Given the description of an element on the screen output the (x, y) to click on. 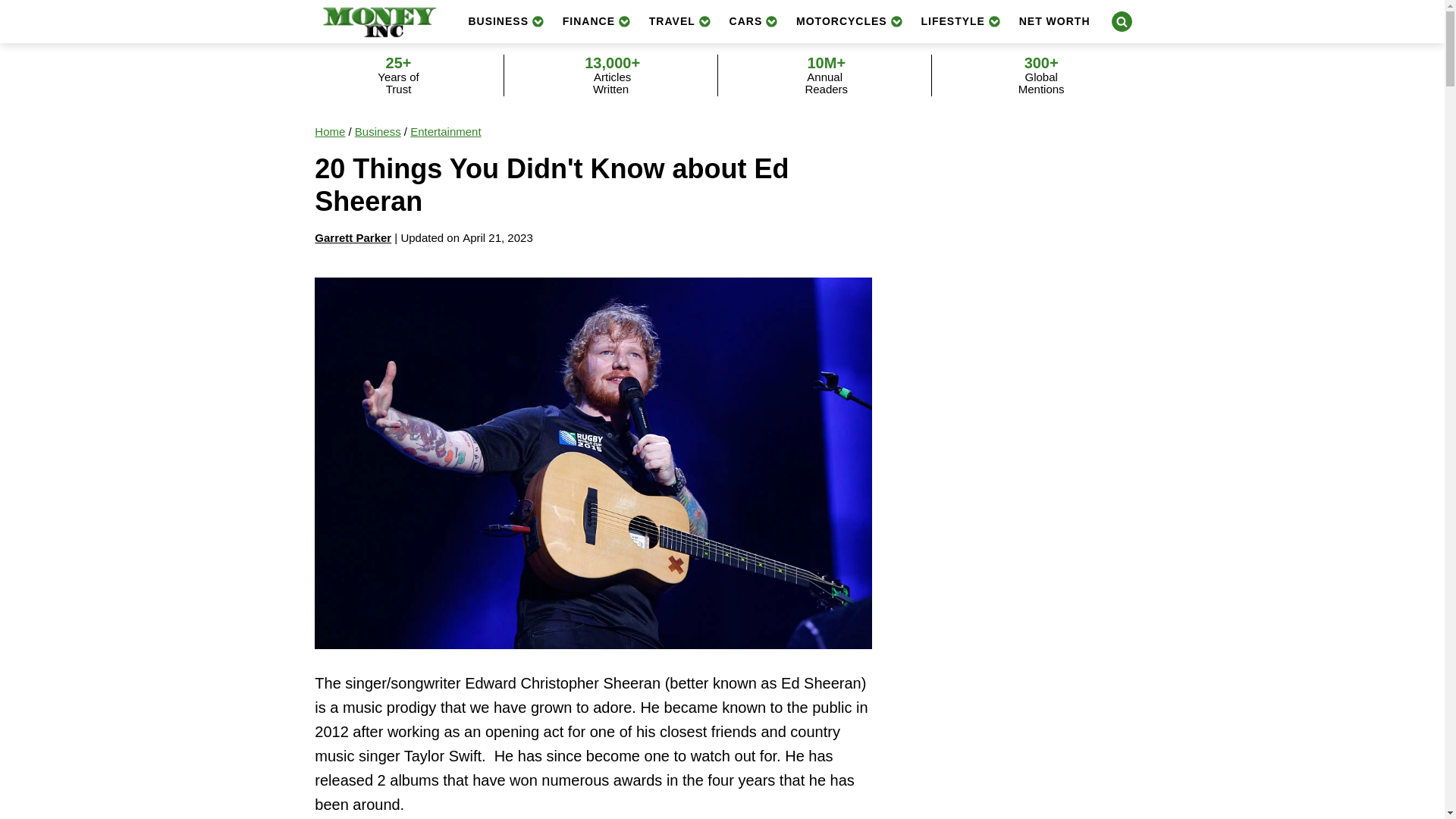
TRAVEL (680, 21)
CARS (753, 21)
BUSINESS (505, 21)
FINANCE (596, 21)
